Given the description of an element on the screen output the (x, y) to click on. 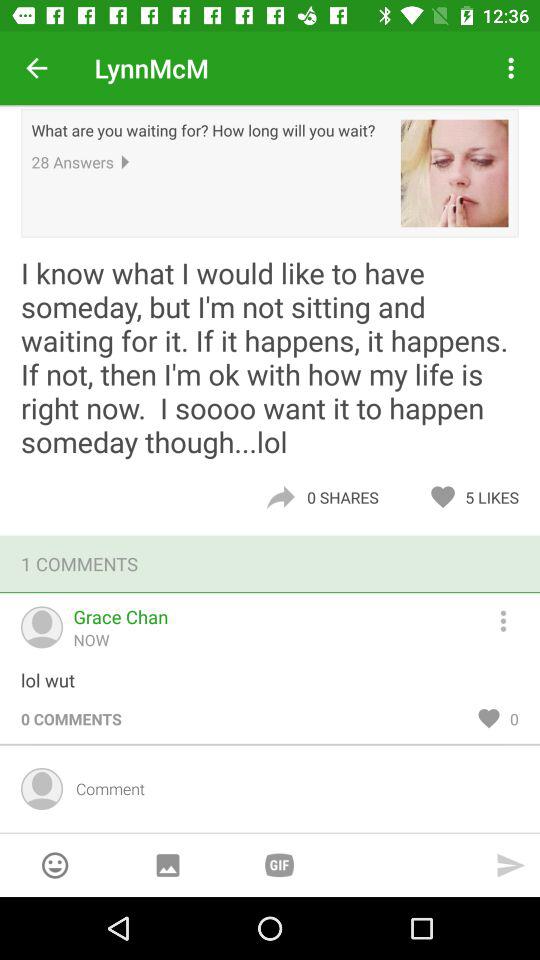
posts emoji (54, 865)
